Given the description of an element on the screen output the (x, y) to click on. 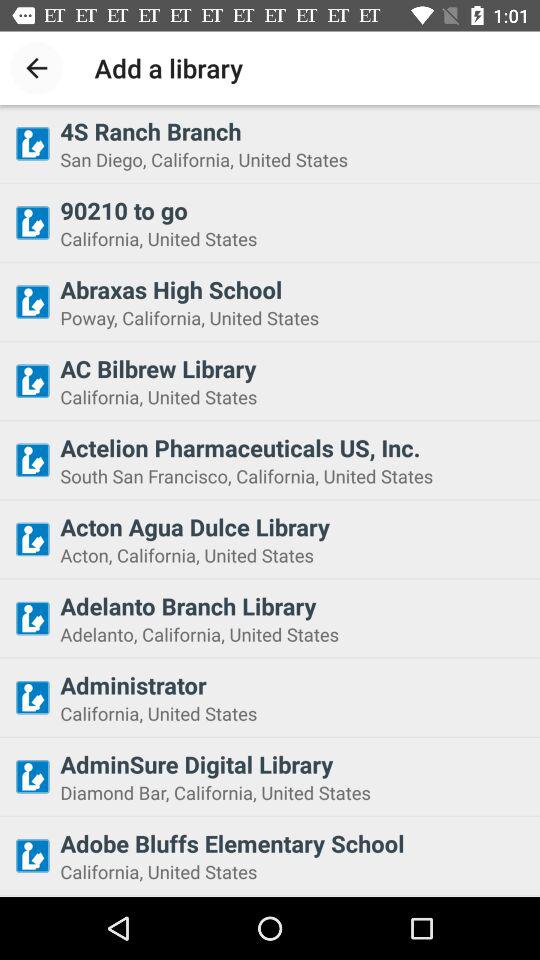
swipe until the south san francisco (294, 475)
